Given the description of an element on the screen output the (x, y) to click on. 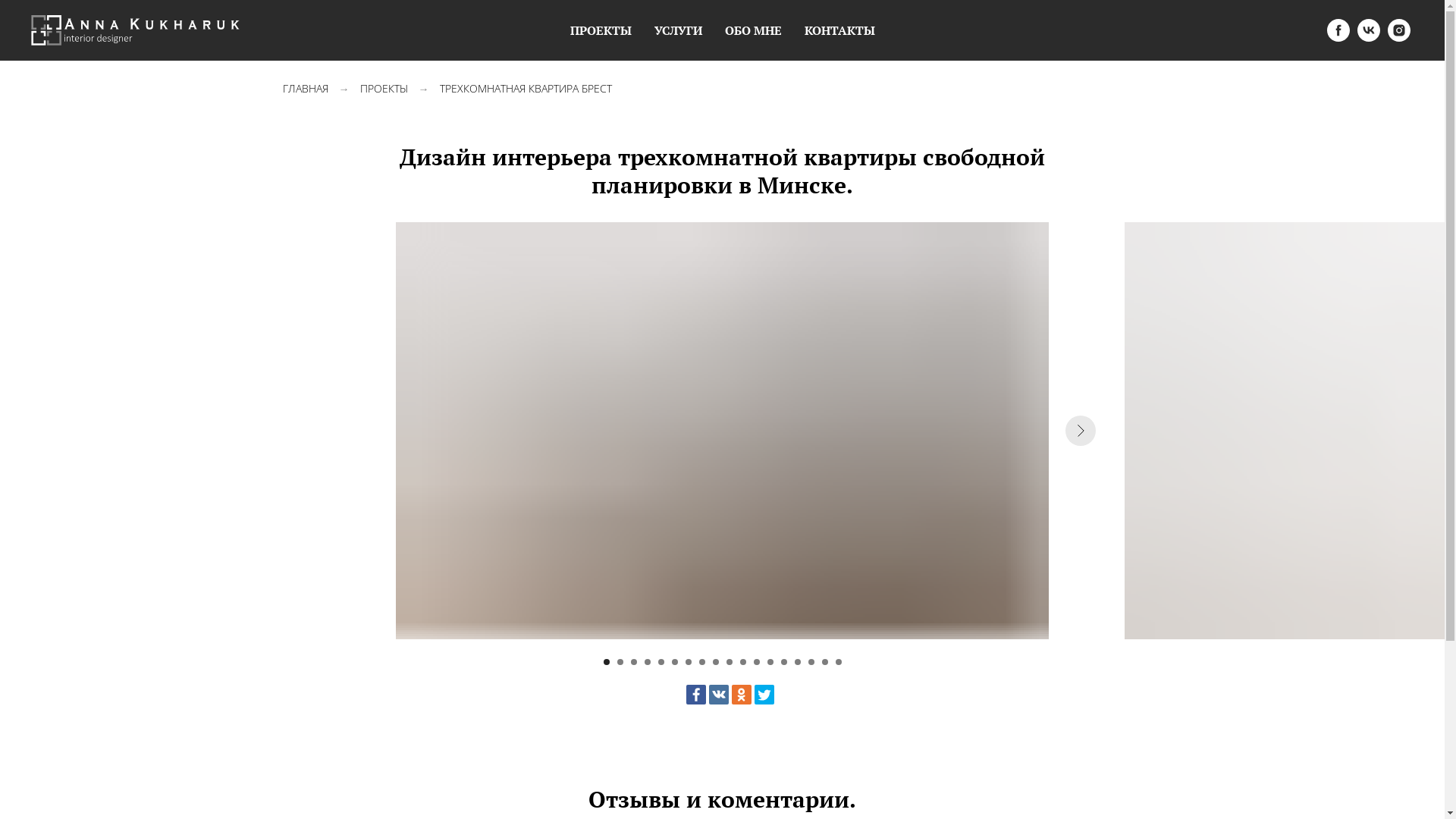
Facebook Element type: hover (695, 694)
Twitter Element type: hover (763, 694)
